Given the description of an element on the screen output the (x, y) to click on. 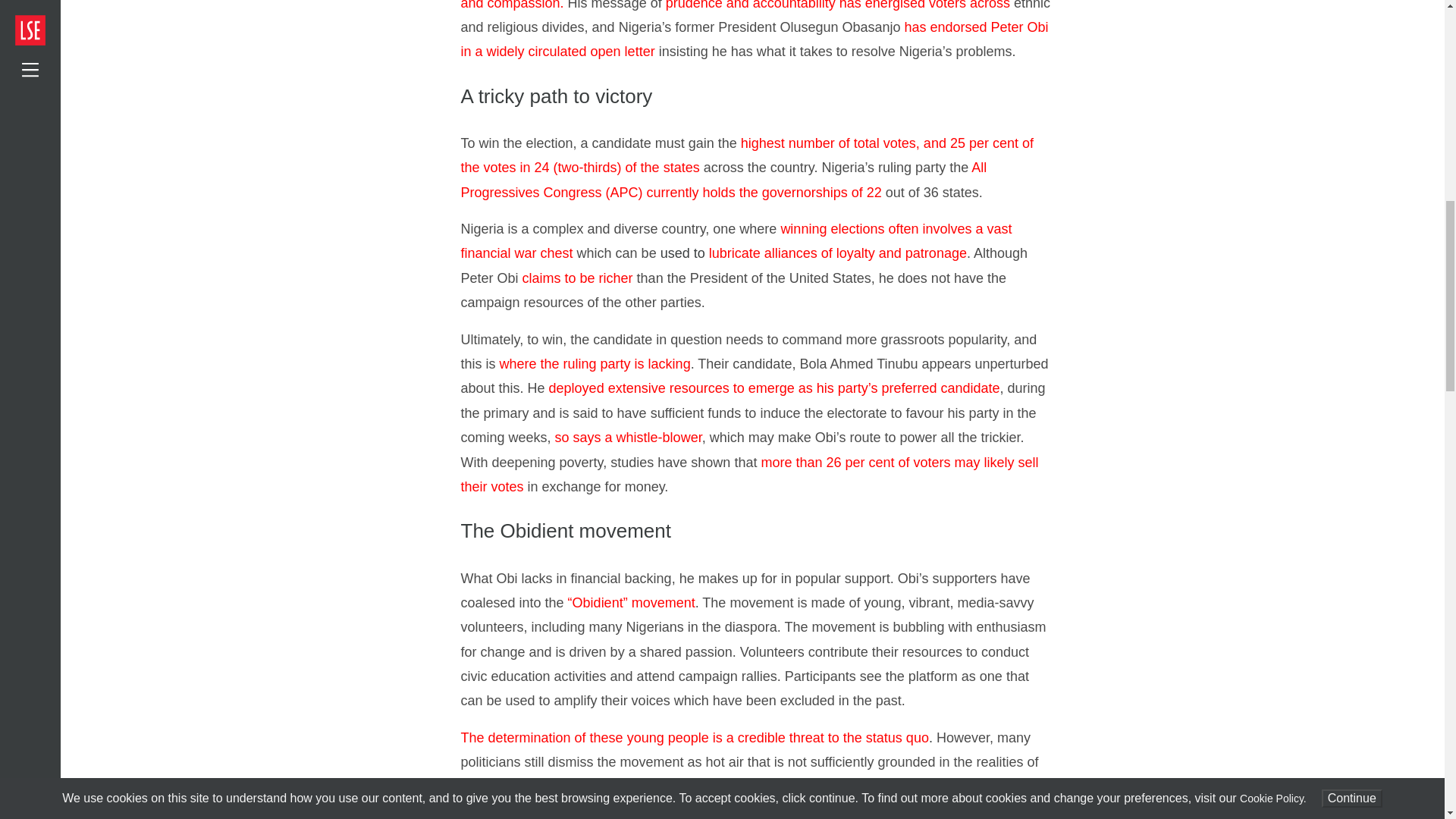
prudence and accountability has energised voters across (837, 5)
character, competence, and compassion (746, 4)
has endorsed Peter Obi in a widely circulated open letter (754, 38)
winning elections often involves a vast financial war chest (736, 241)
